Given the description of an element on the screen output the (x, y) to click on. 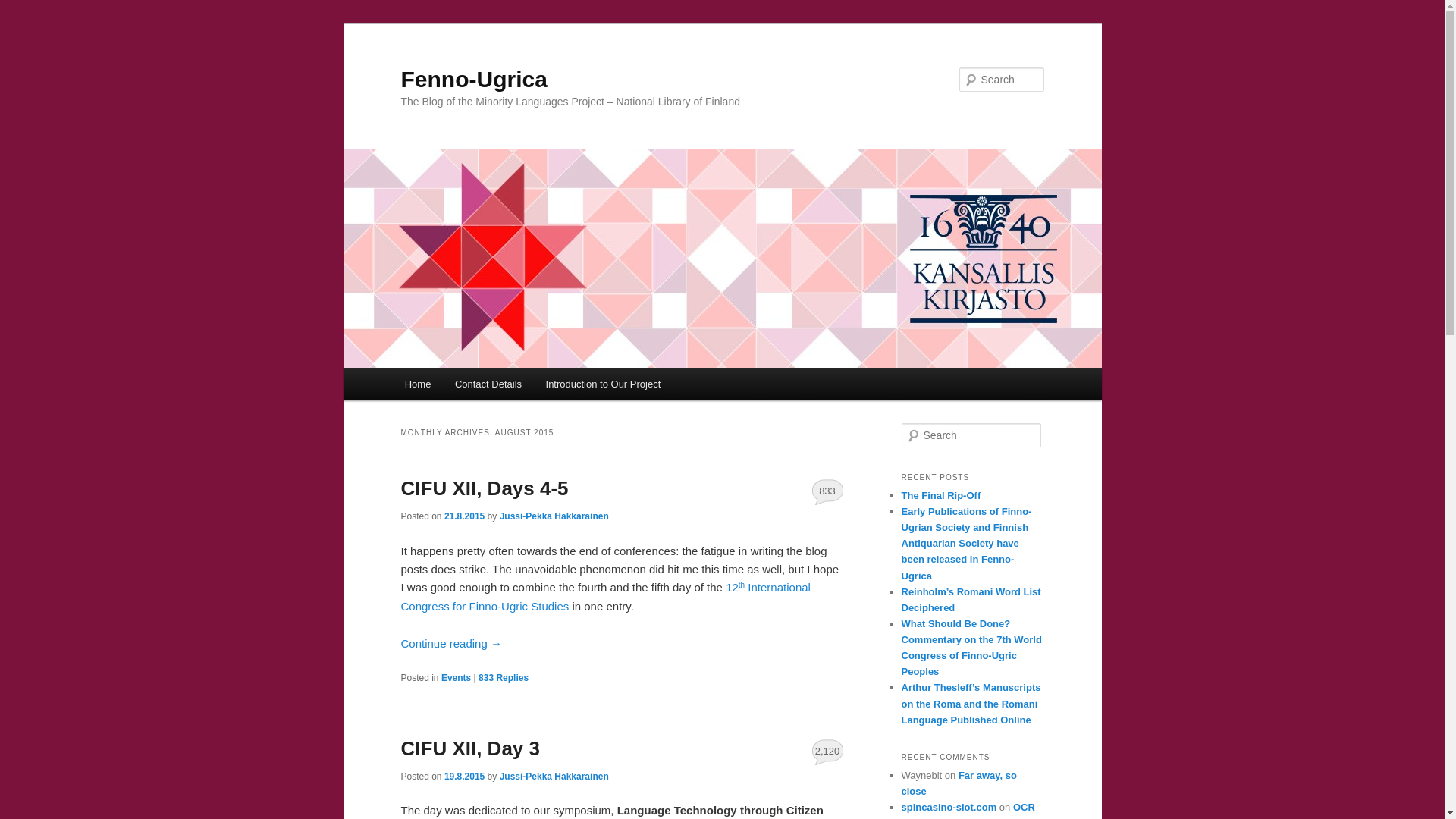
21.8.2015 (464, 516)
View all posts by Jussi-Pekka Hakkarainen (553, 776)
17.14 (464, 776)
12th International Congress for Finno-Ugric Studies (604, 595)
19.8.2015 (464, 776)
Contact Details (488, 383)
Home (417, 383)
833 (827, 491)
Fenno-Ugrica (473, 78)
833 Replies (503, 677)
Jussi-Pekka Hakkarainen (553, 776)
Events (455, 677)
13.52 (464, 516)
CIFU XII, Days 4-5 (483, 487)
